Given the description of an element on the screen output the (x, y) to click on. 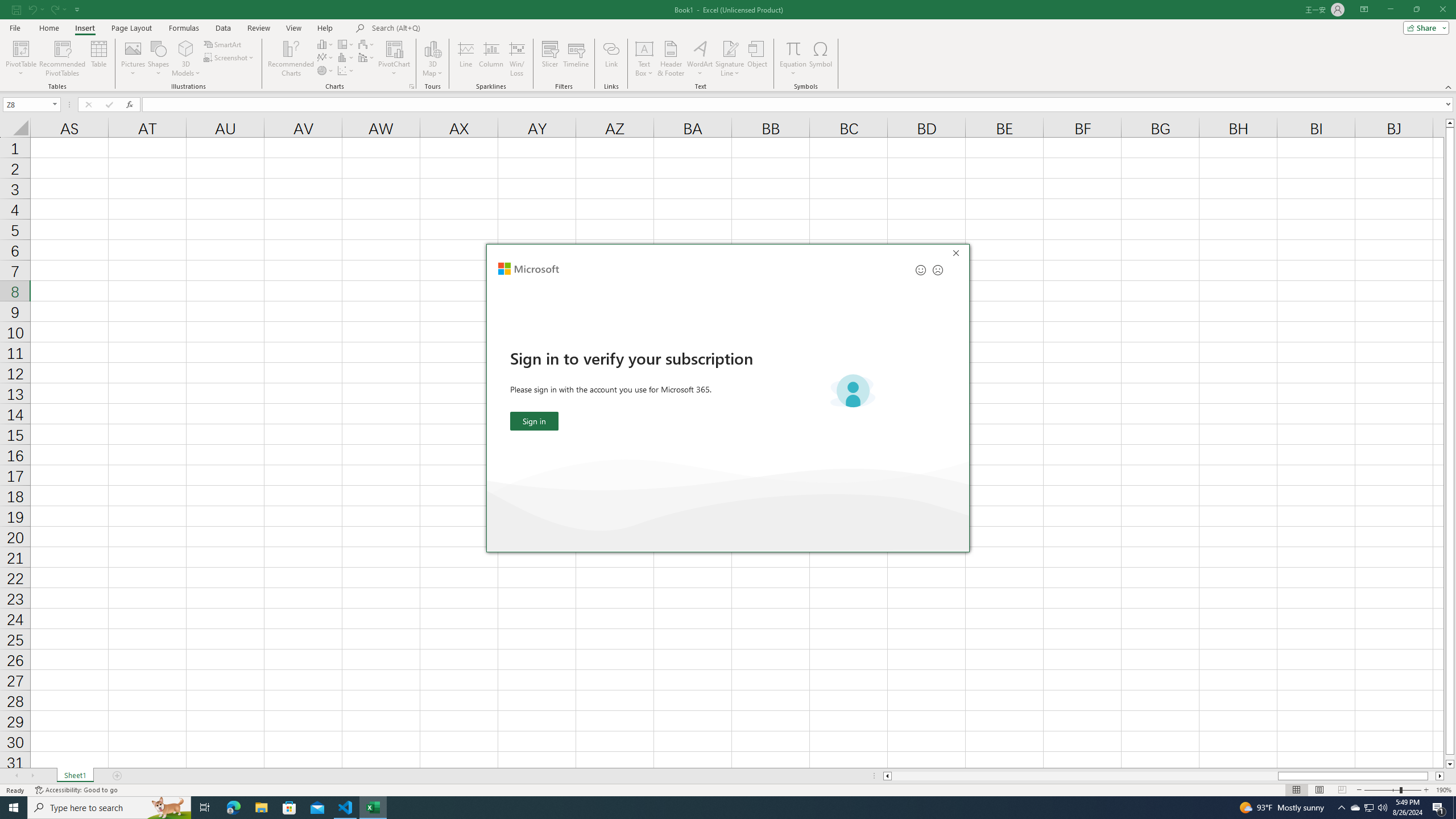
Timeline (575, 58)
Restore Down (1416, 9)
Sheet1 (74, 775)
Start (13, 807)
Insert Combo Chart (366, 56)
WordArt (699, 58)
Add Sheet (117, 775)
PivotTable (20, 58)
User Promoted Notification Area (1368, 807)
